Given the description of an element on the screen output the (x, y) to click on. 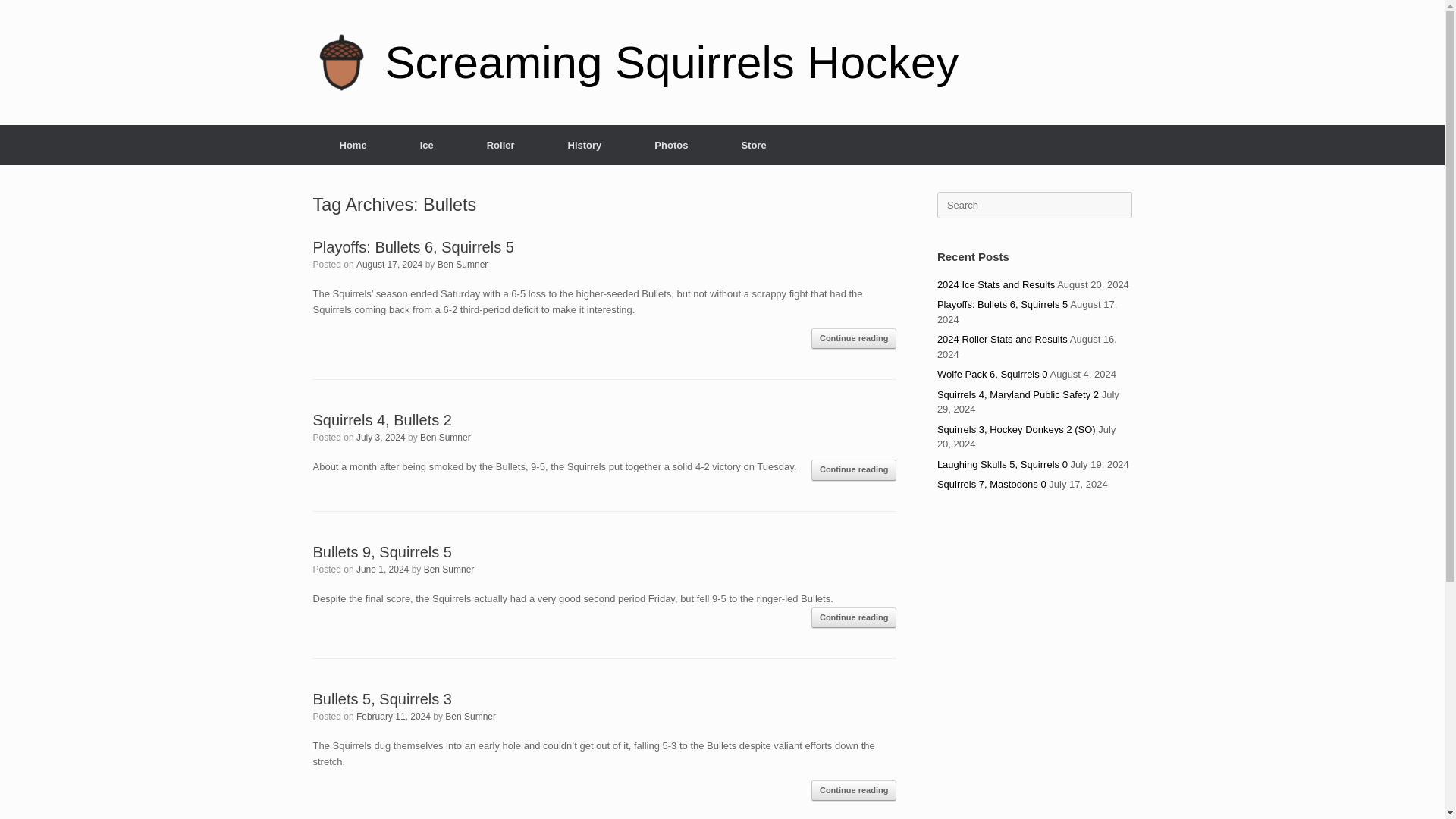
Ice (426, 145)
View all posts by Ben Sumner (462, 264)
July 3, 2024 (381, 437)
View all posts by Ben Sumner (470, 716)
Ben Sumner (462, 264)
Continue reading (853, 617)
Permalink to Bullets 5, Squirrels 3 (382, 699)
12:34 am (393, 716)
History (584, 145)
Ben Sumner (445, 437)
